Given the description of an element on the screen output the (x, y) to click on. 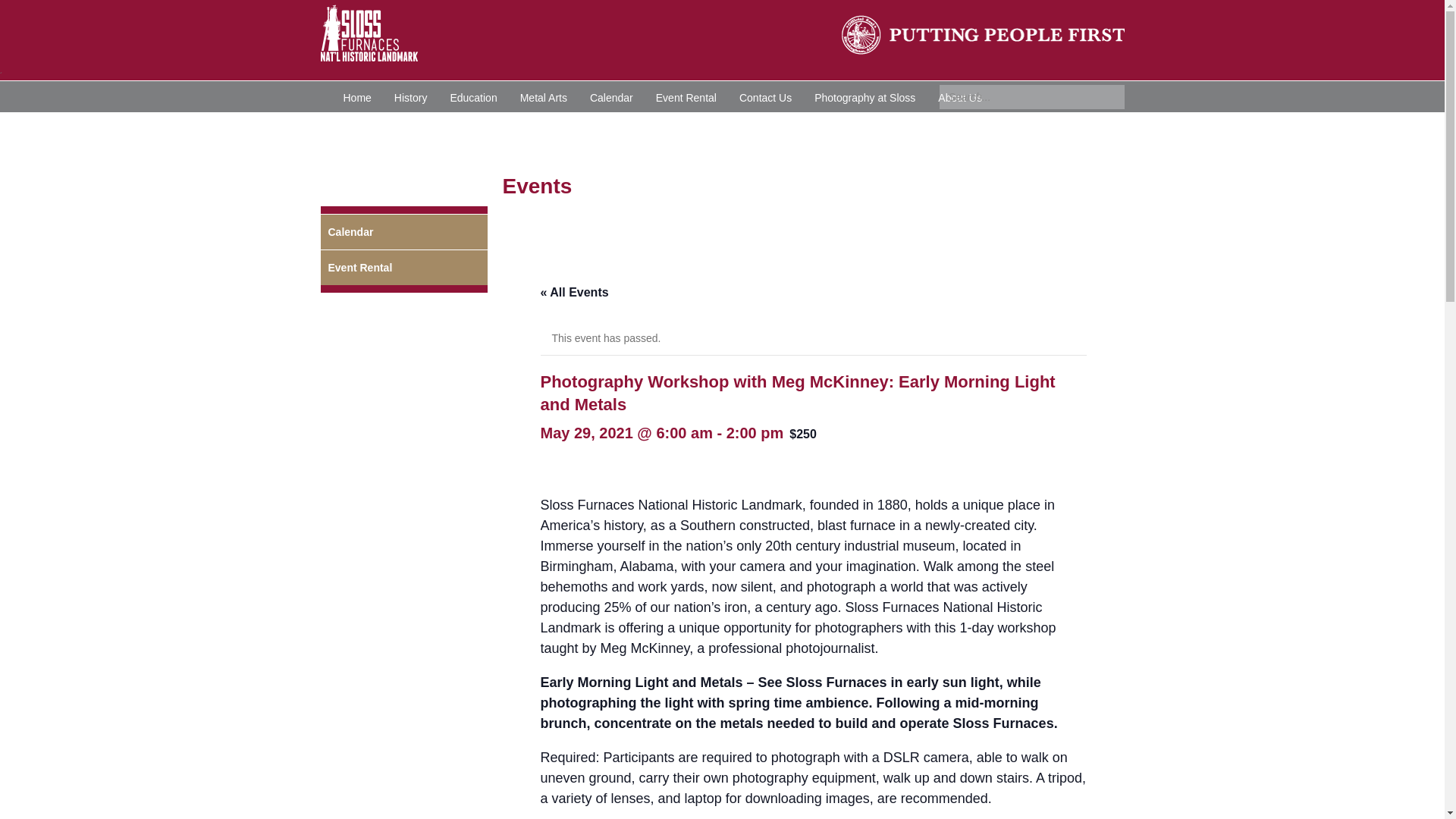
Research at Sloss (504, 158)
Sloss News! (599, 158)
Metal Arts (543, 96)
Directions (559, 127)
Education (473, 96)
search (1031, 96)
Search... (1031, 96)
Contact Us (765, 96)
Public Guided Tours (831, 127)
Restaurants Near Sloss Furnaces (904, 158)
Field Trips (925, 127)
About Us (959, 96)
Thank You! (678, 158)
History (410, 96)
Calendar (611, 96)
